Given the description of an element on the screen output the (x, y) to click on. 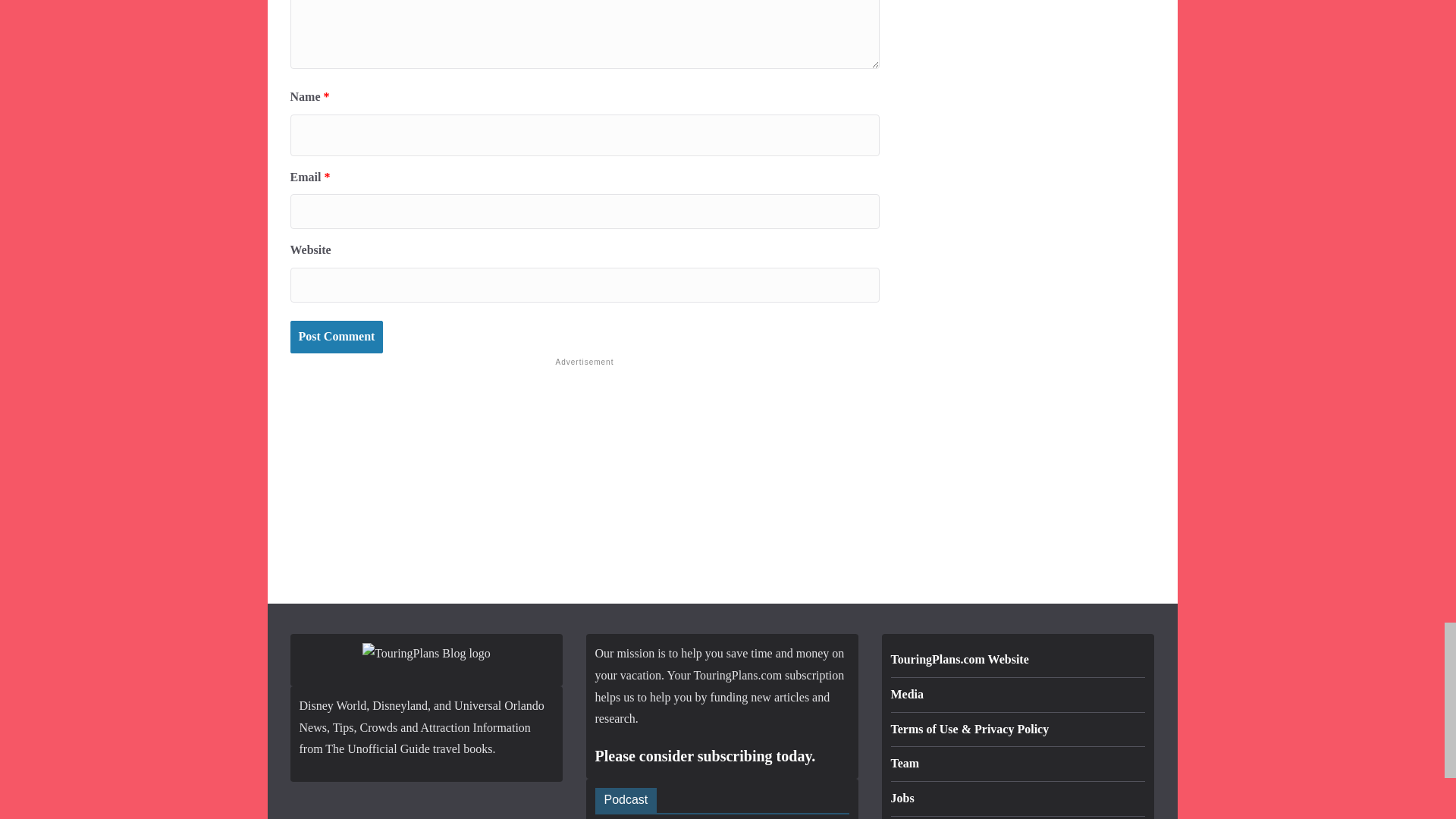
Post Comment (335, 336)
